Given the description of an element on the screen output the (x, y) to click on. 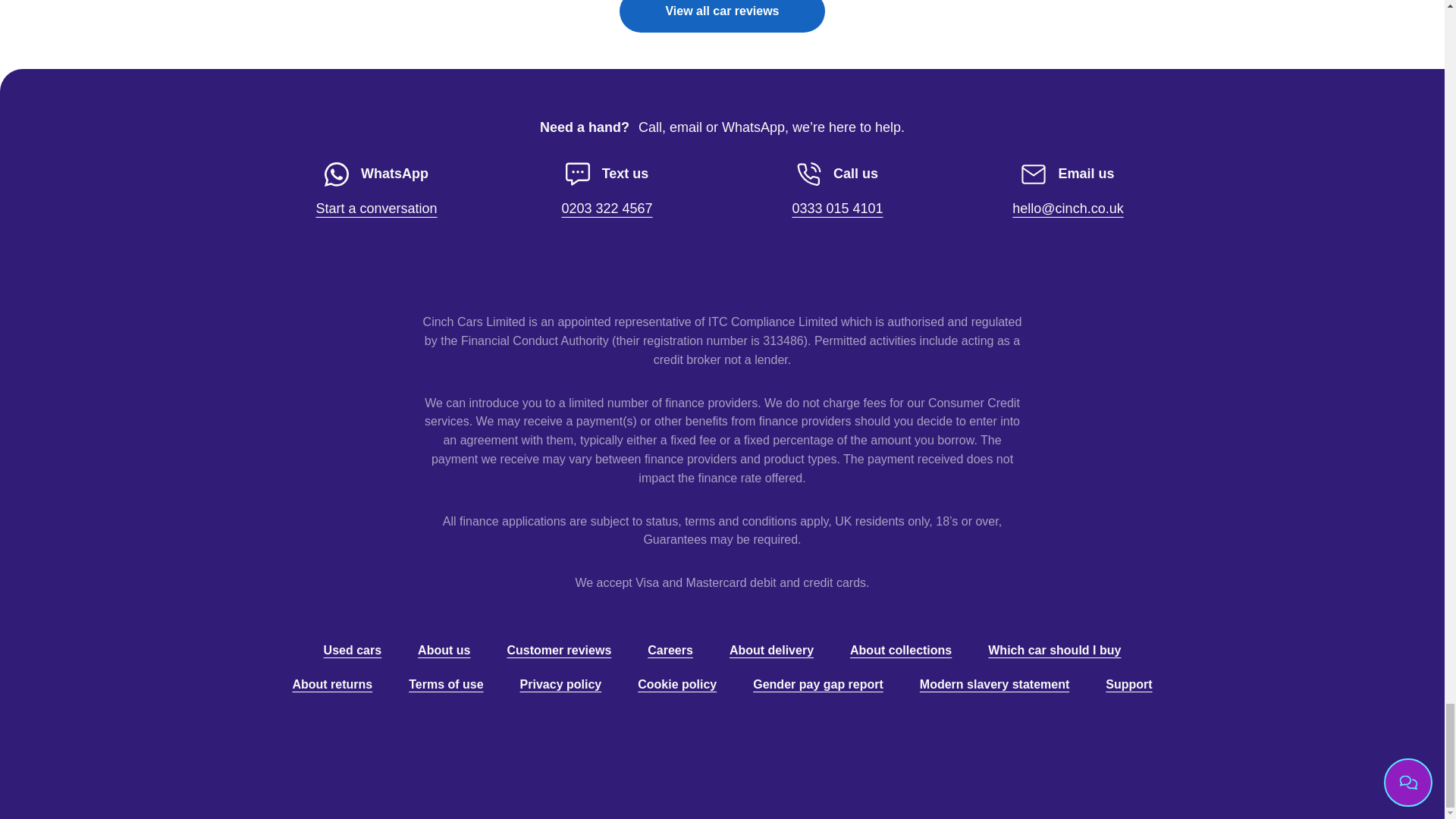
About delivery (771, 649)
View all car reviews (722, 16)
About us (443, 649)
Careers (670, 649)
Used cars (836, 191)
About collections (352, 649)
Customer reviews (606, 191)
